Given the description of an element on the screen output the (x, y) to click on. 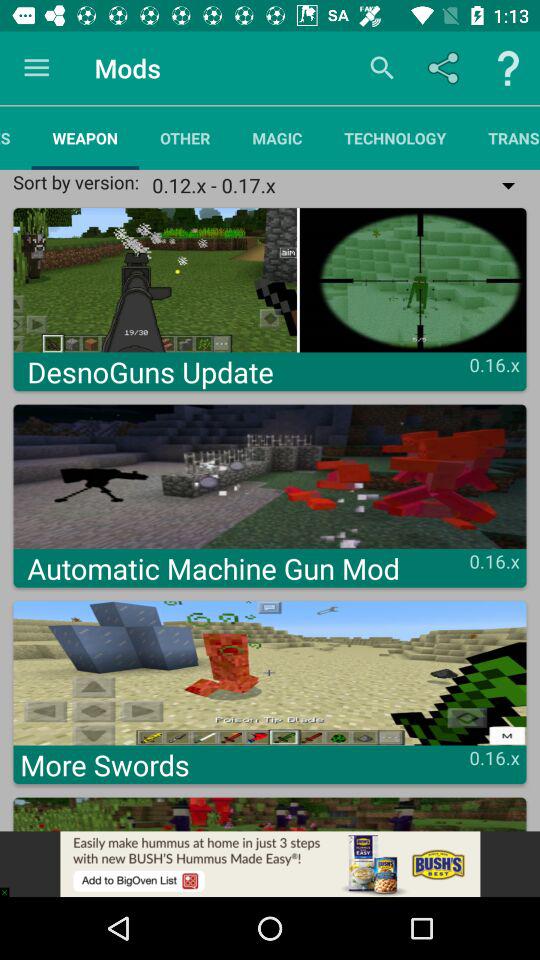
select icon to the left of other item (85, 137)
